Given the description of an element on the screen output the (x, y) to click on. 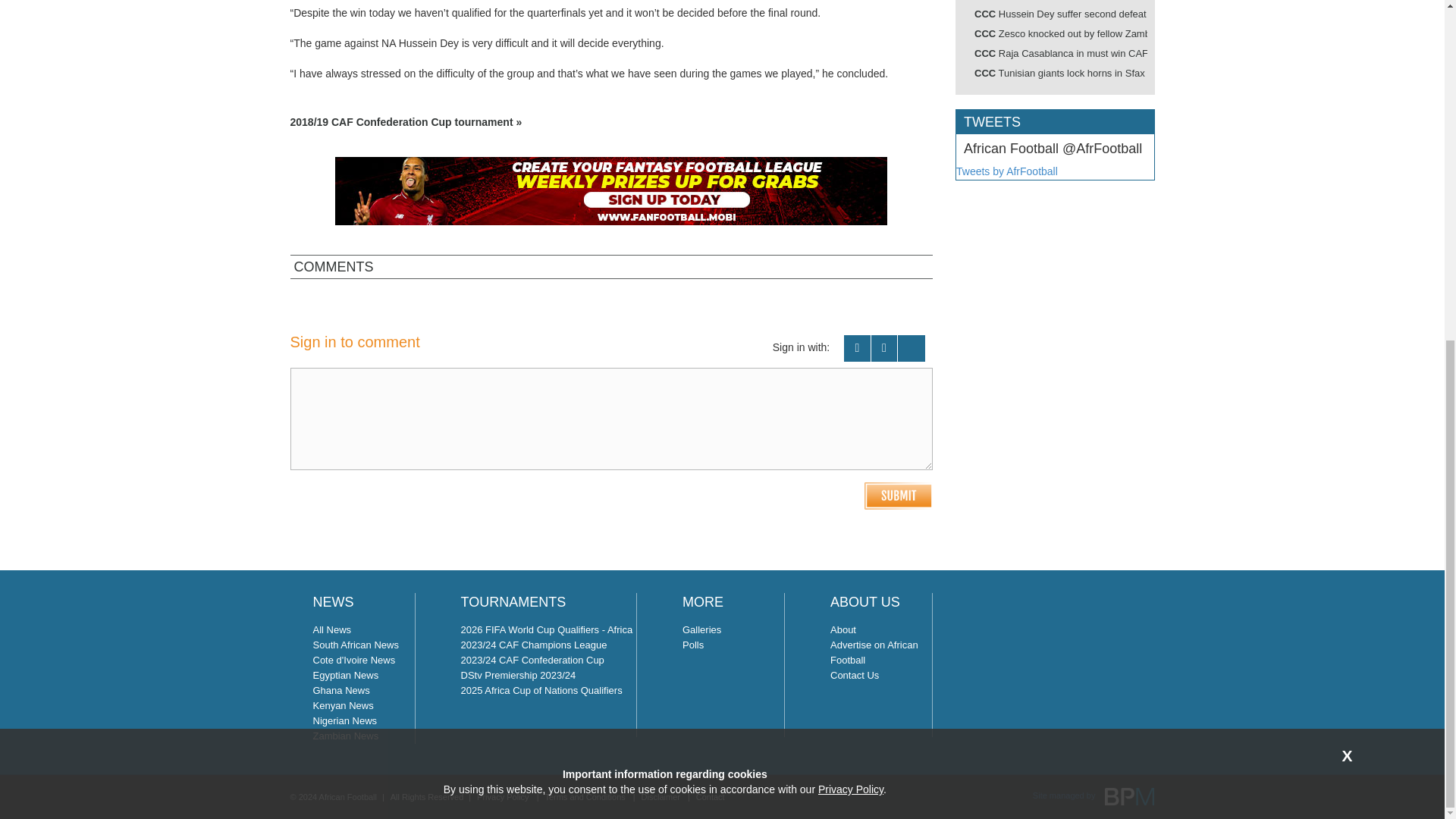
Sign in with your Twitter details (884, 347)
Sign in with your Facebook details (856, 347)
